Given the description of an element on the screen output the (x, y) to click on. 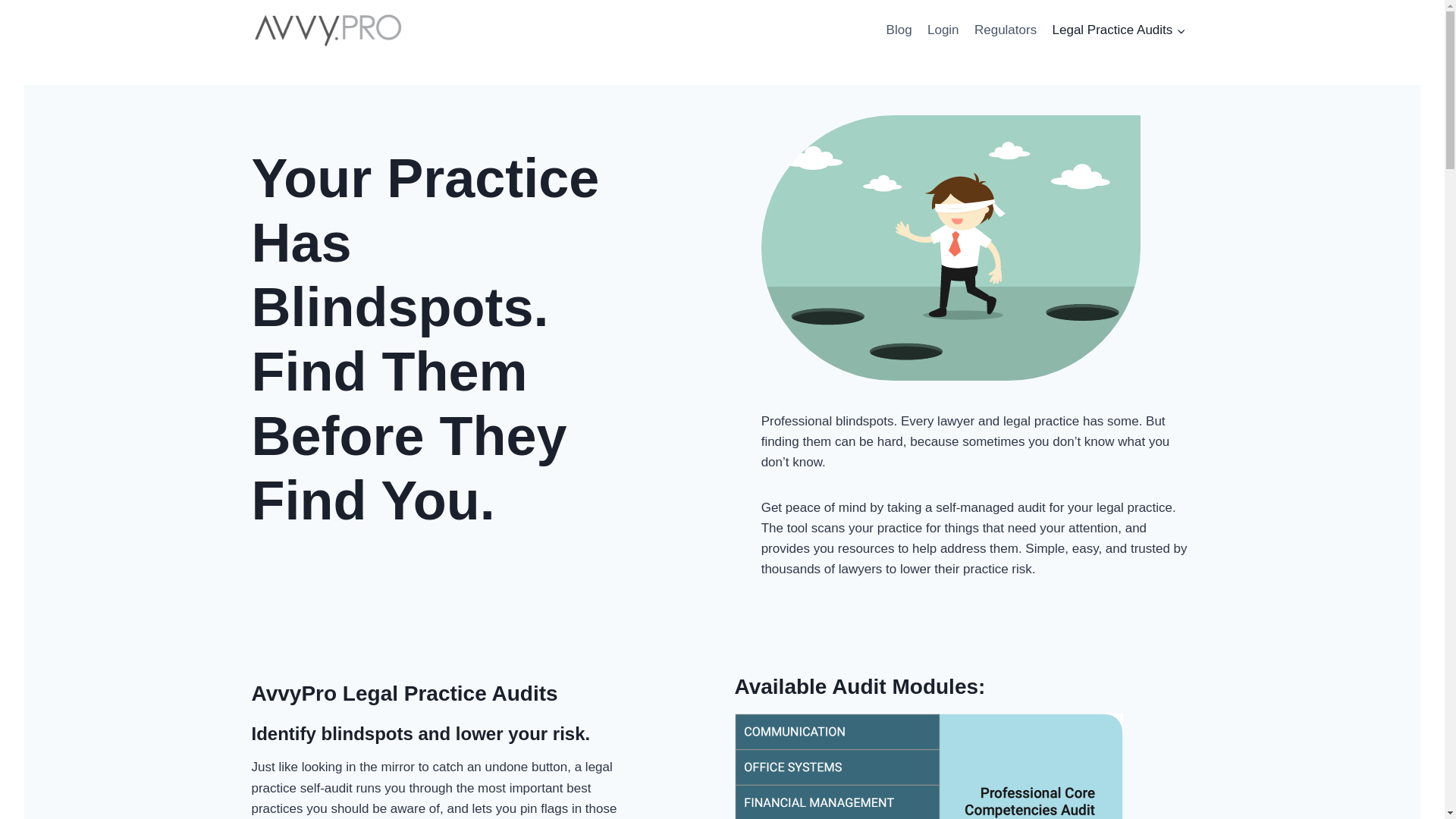
Login (943, 30)
Regulators (1005, 30)
Blog (897, 30)
Legal Practice Audits (1117, 30)
